Given the description of an element on the screen output the (x, y) to click on. 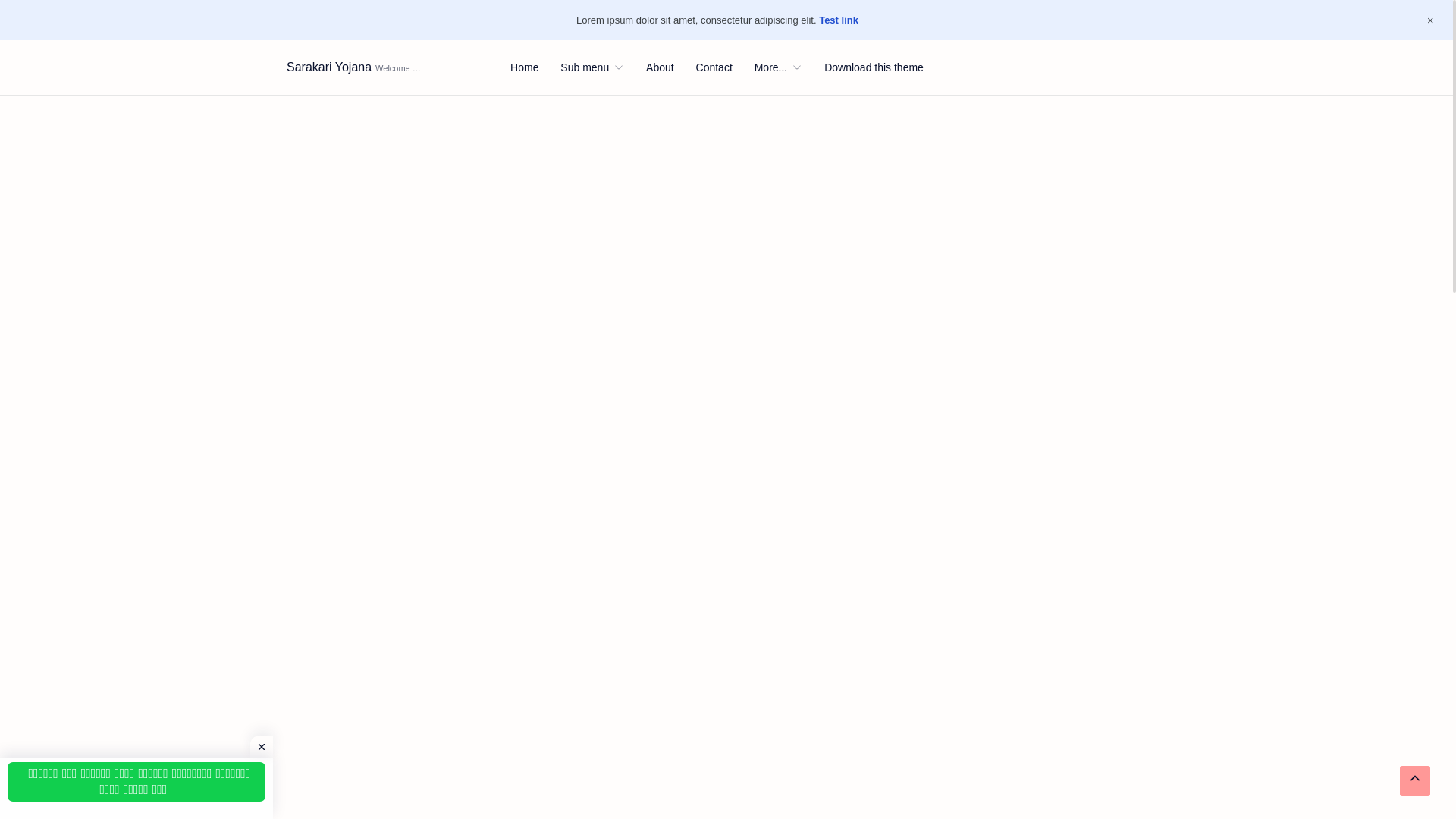
About (660, 67)
Download this theme (873, 67)
Advertisement (593, 813)
Test link (838, 19)
Home (524, 67)
Scroll back to top (1414, 780)
Contact (713, 67)
